Given the description of an element on the screen output the (x, y) to click on. 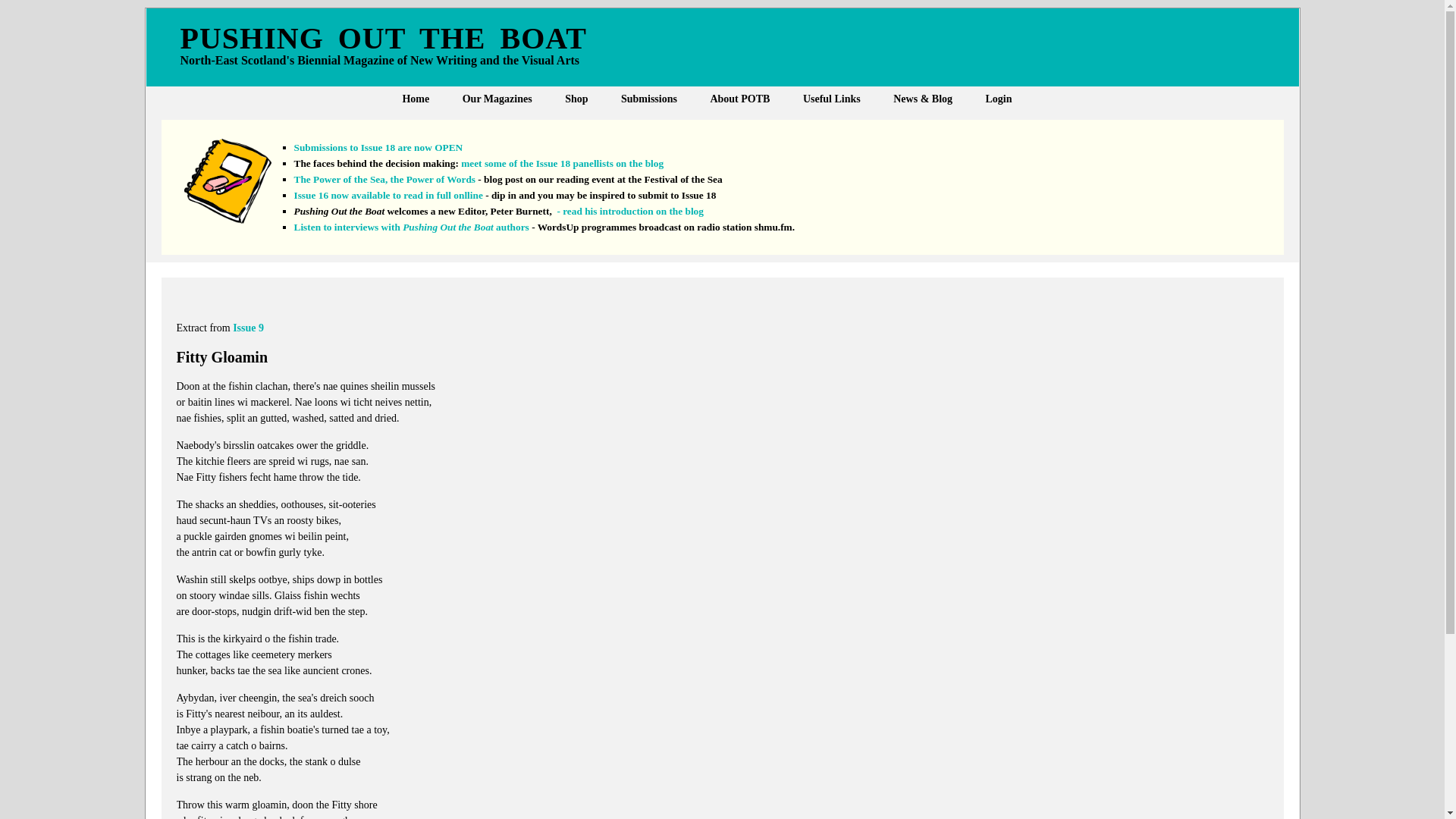
Home (415, 99)
Our Magazines (496, 99)
All Issues (522, 122)
Retail Outlets (625, 122)
All Links (863, 122)
About POTB (739, 99)
Useful Links (831, 99)
 PUSHING OUT THE BOAT (554, 43)
Shop (576, 99)
